Given the description of an element on the screen output the (x, y) to click on. 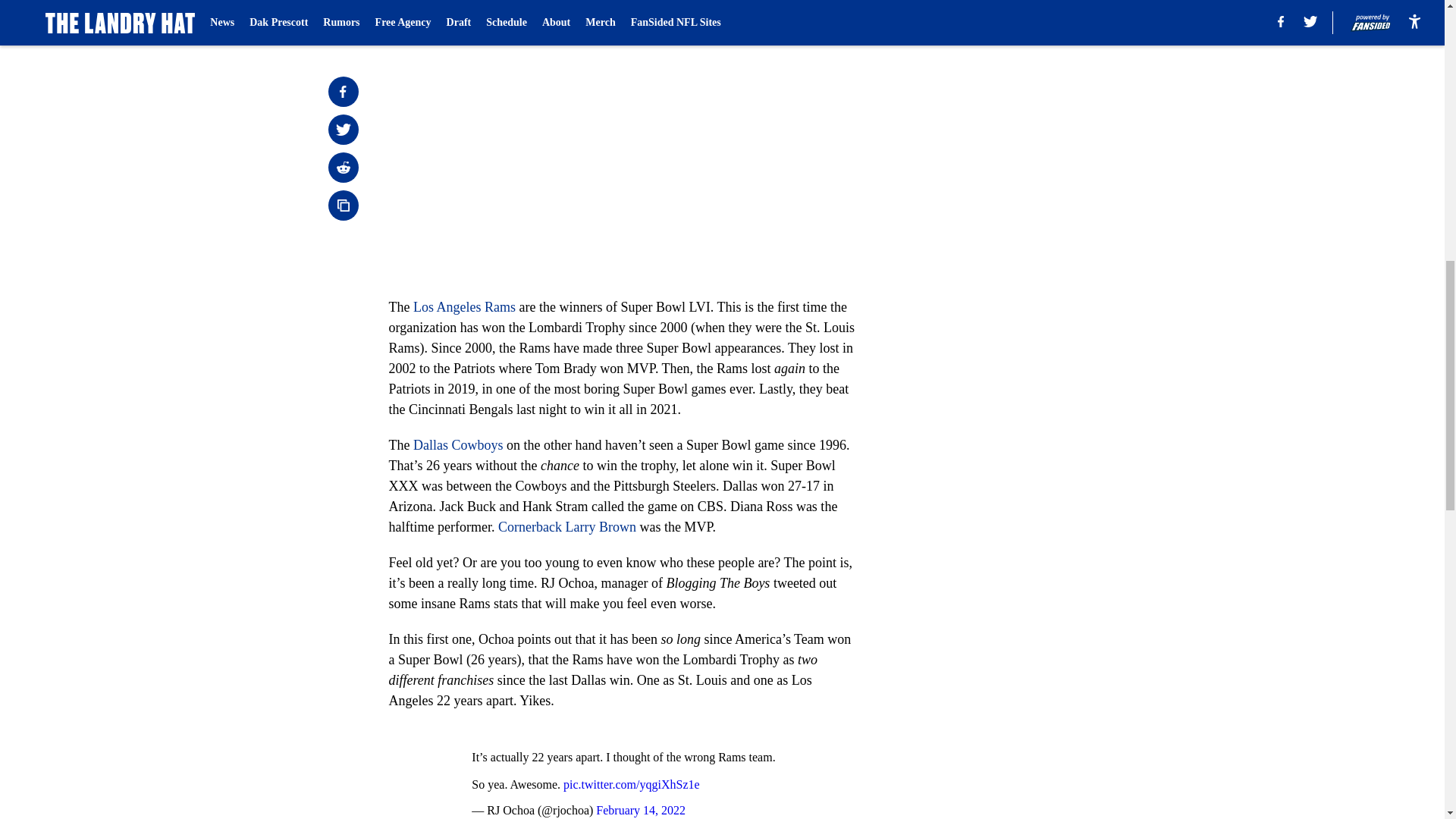
Los Angeles Rams (464, 306)
Dallas Cowboys (458, 444)
Cornerback Larry Brown (566, 526)
February 14, 2022 (640, 809)
